Given the description of an element on the screen output the (x, y) to click on. 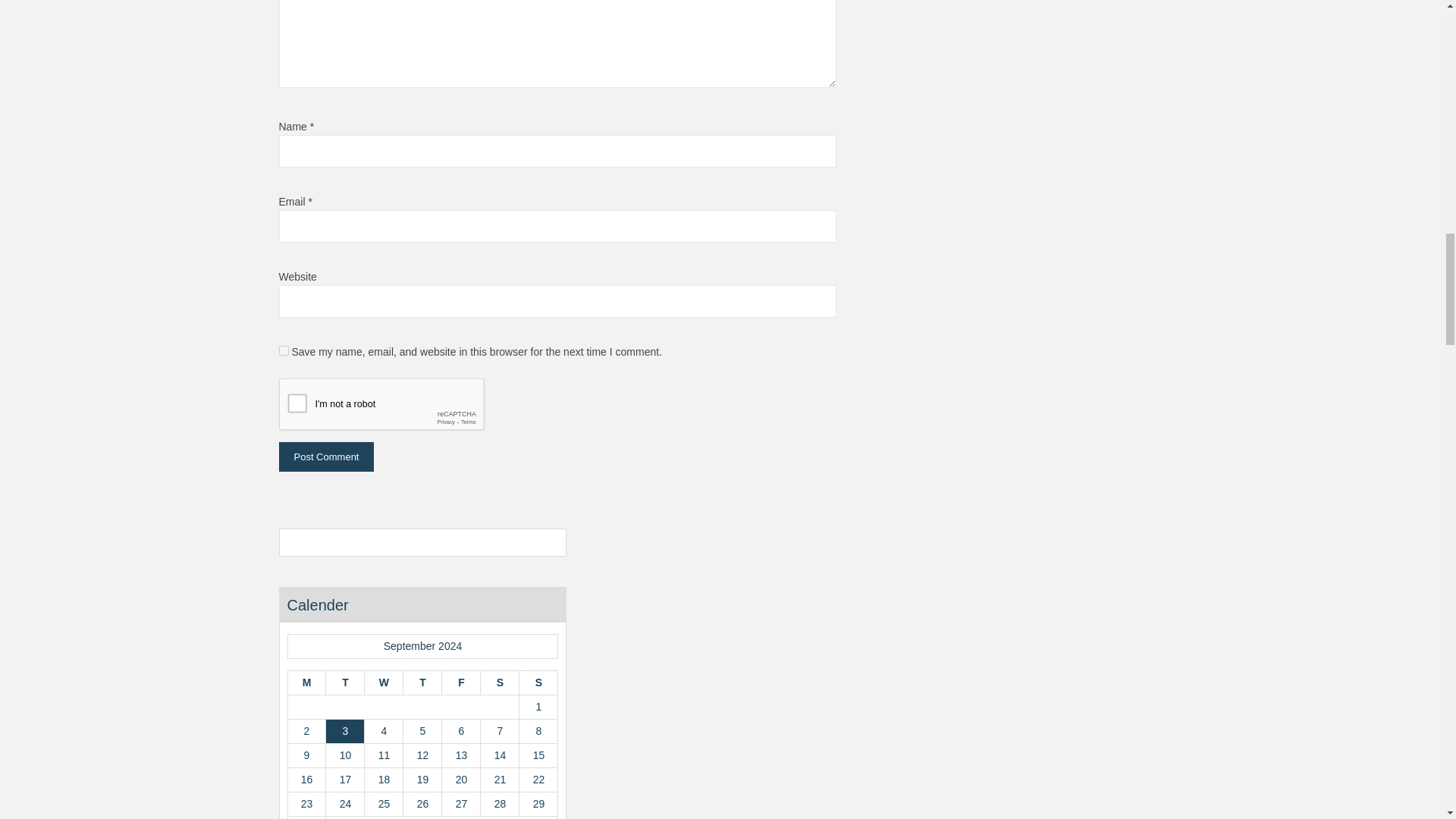
Post Comment (326, 457)
Post Comment (326, 457)
Tuesday (344, 682)
Wednesday (383, 682)
Friday (460, 682)
yes (283, 350)
Monday (305, 682)
reCAPTCHA (394, 406)
Thursday (422, 682)
